Given the description of an element on the screen output the (x, y) to click on. 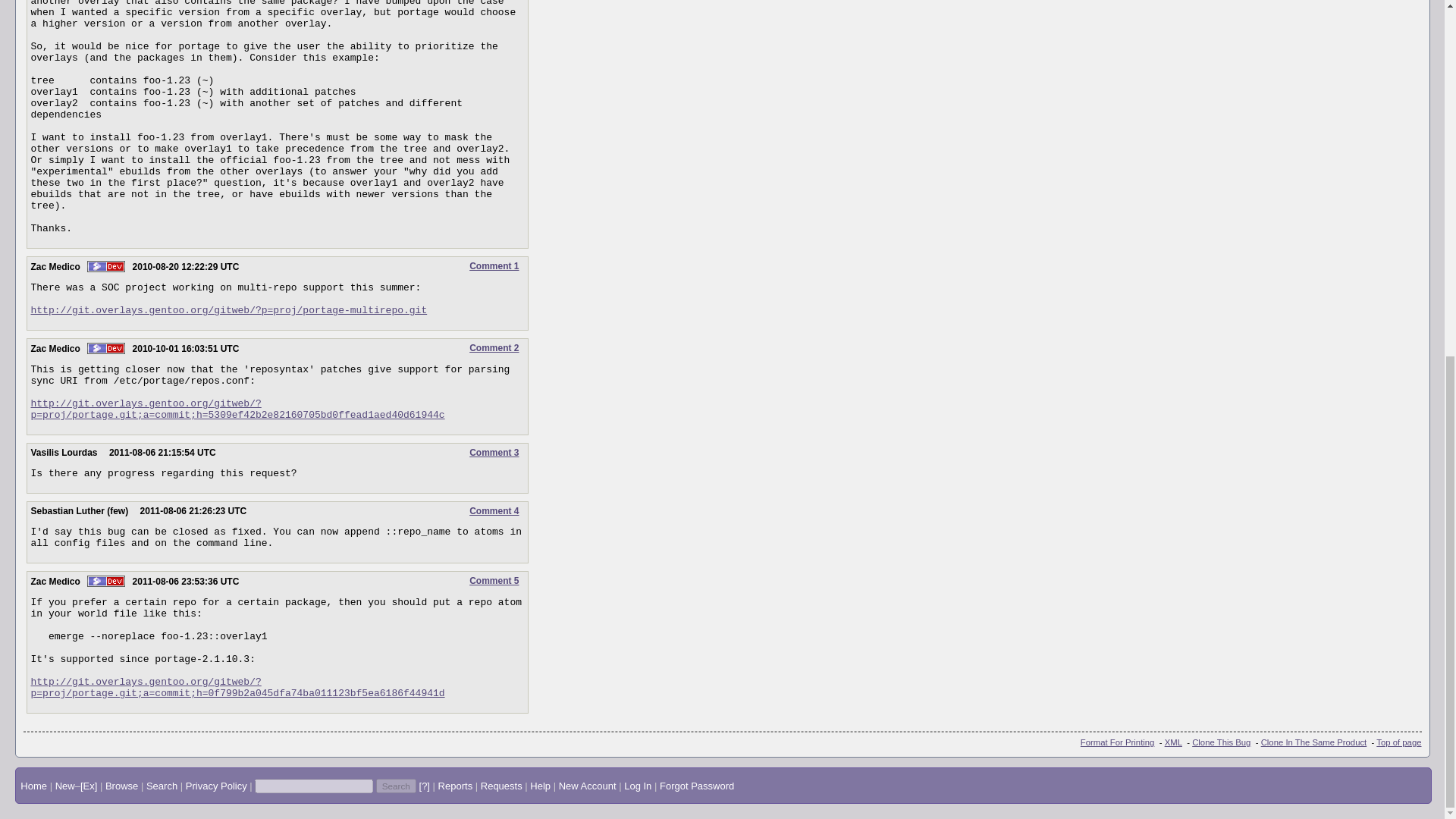
Search (395, 785)
